Given the description of an element on the screen output the (x, y) to click on. 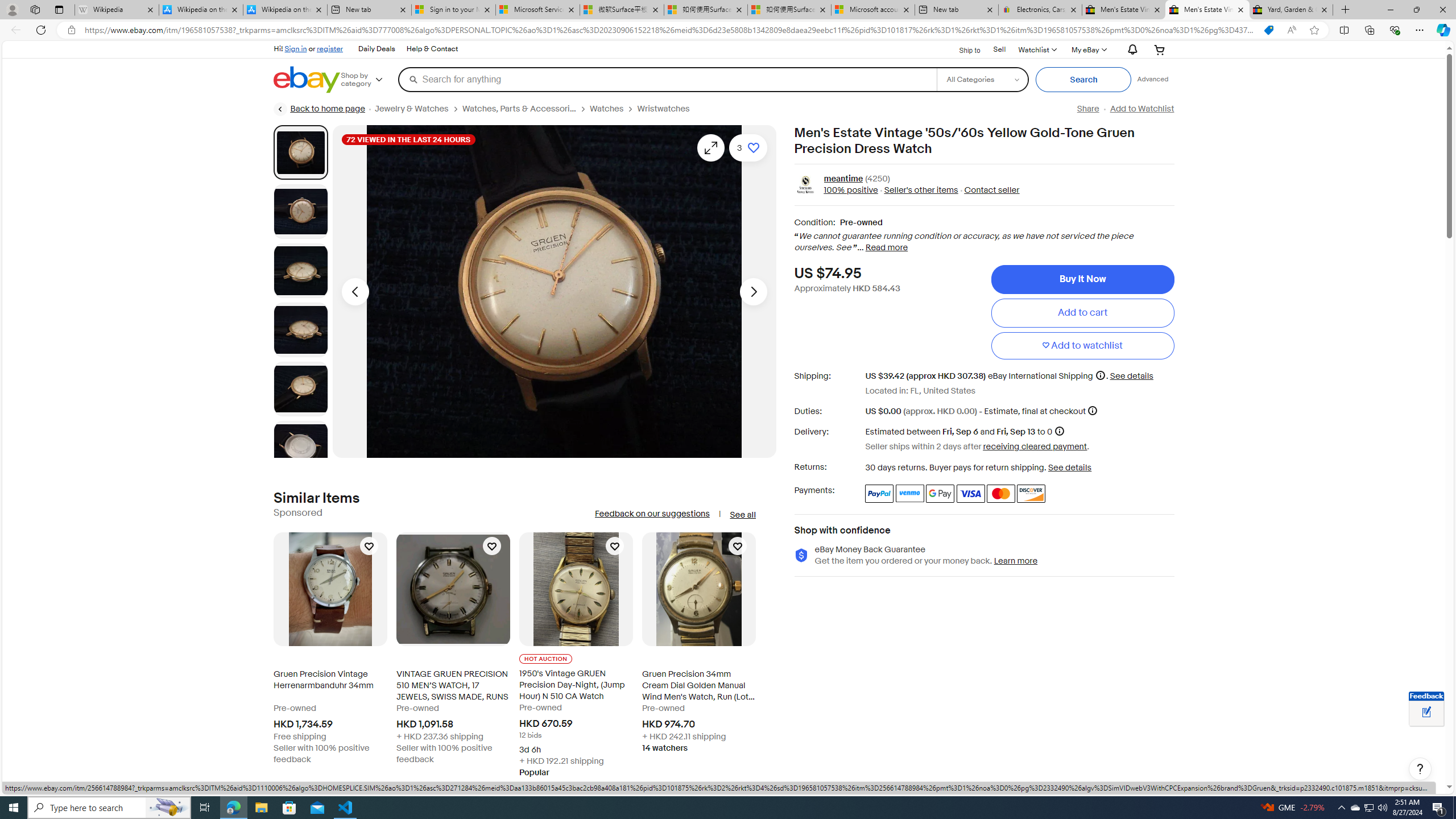
(4250) (876, 179)
Share (1087, 108)
register (329, 48)
WatchlistExpand Watch List (1036, 49)
Add to watchlist (1082, 345)
Picture 1 of 8 (300, 152)
